Given the description of an element on the screen output the (x, y) to click on. 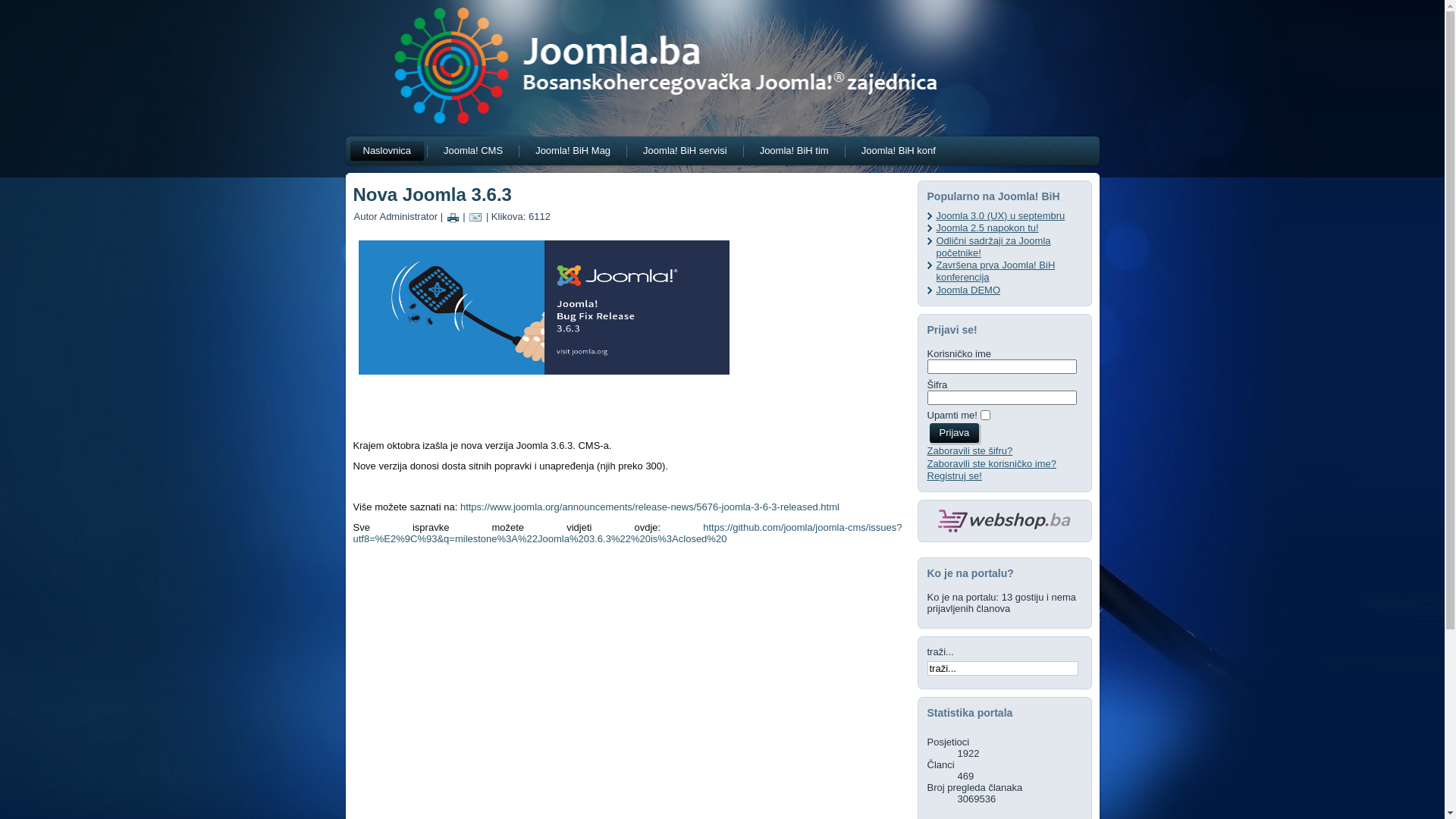
Naslovnica Element type: text (387, 150)
Joomla 2.5 napokon tu! Element type: text (986, 227)
Joomla! BiH Mag Element type: text (572, 150)
Joomla 3.0 (UX) u septembru Element type: text (999, 215)
Joomla! BiH servisi Element type: text (685, 150)
Nova Joomla 3.6.3 Element type: text (432, 194)
Registruj se! Element type: text (953, 475)
Joomla! BiH konf Element type: text (898, 150)
Joomla! CMS Element type: text (472, 150)
Joomla DEMO Element type: text (967, 288)
Joomla! BiH tim Element type: text (793, 150)
WebShop.Ba Element type: hover (1003, 520)
Prijava Element type: text (953, 432)
